Given the description of an element on the screen output the (x, y) to click on. 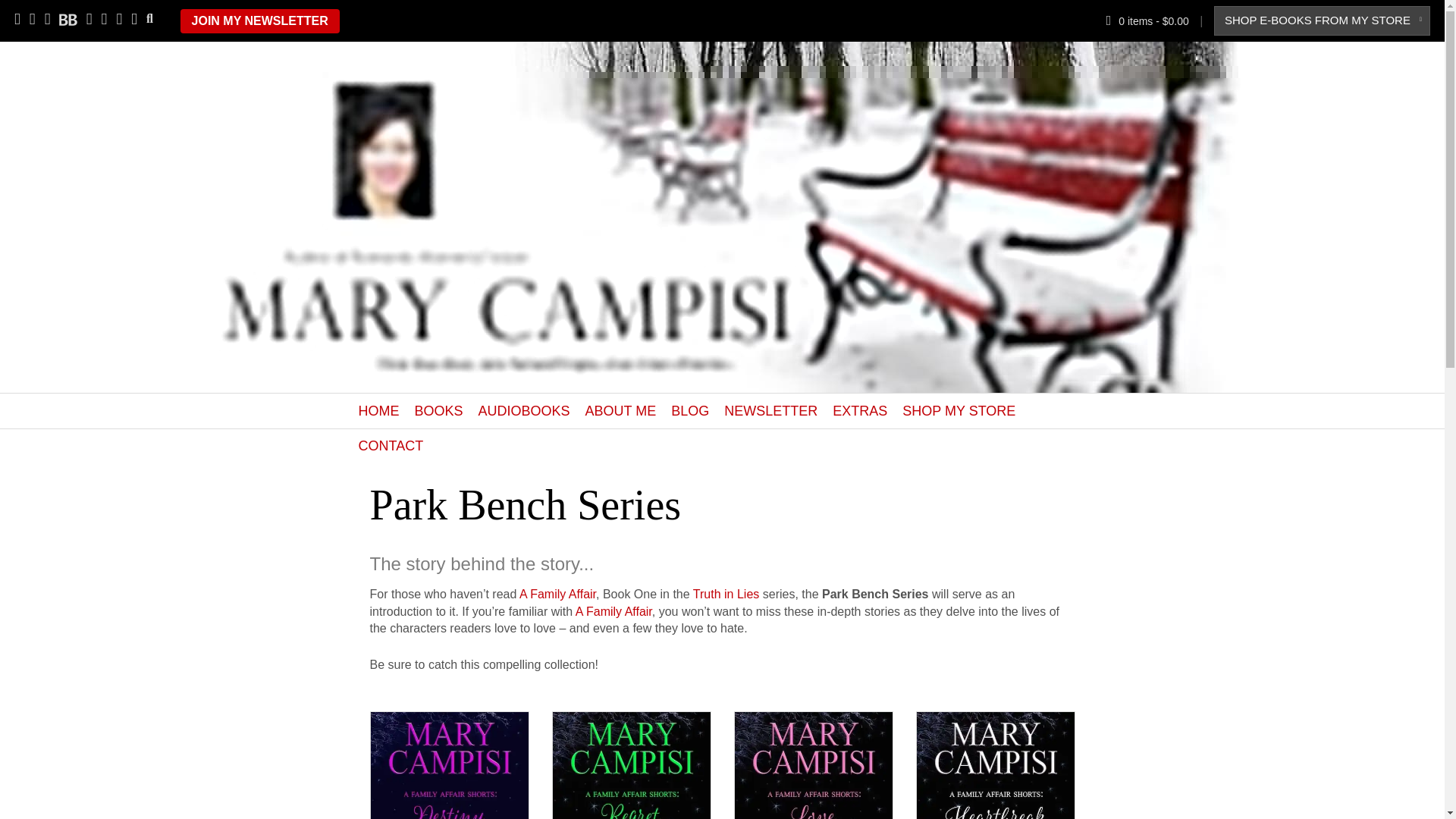
BLOG (689, 410)
SHOP E-BOOKS FROM MY STORE (1316, 20)
BOOKS (438, 410)
HOME (378, 410)
Follow on BookBub (68, 18)
CONTACT (390, 445)
JOIN MY NEWSLETTER (259, 21)
EXTRAS (860, 410)
SHOP MY STORE (959, 410)
ABOUT ME (620, 410)
